Given the description of an element on the screen output the (x, y) to click on. 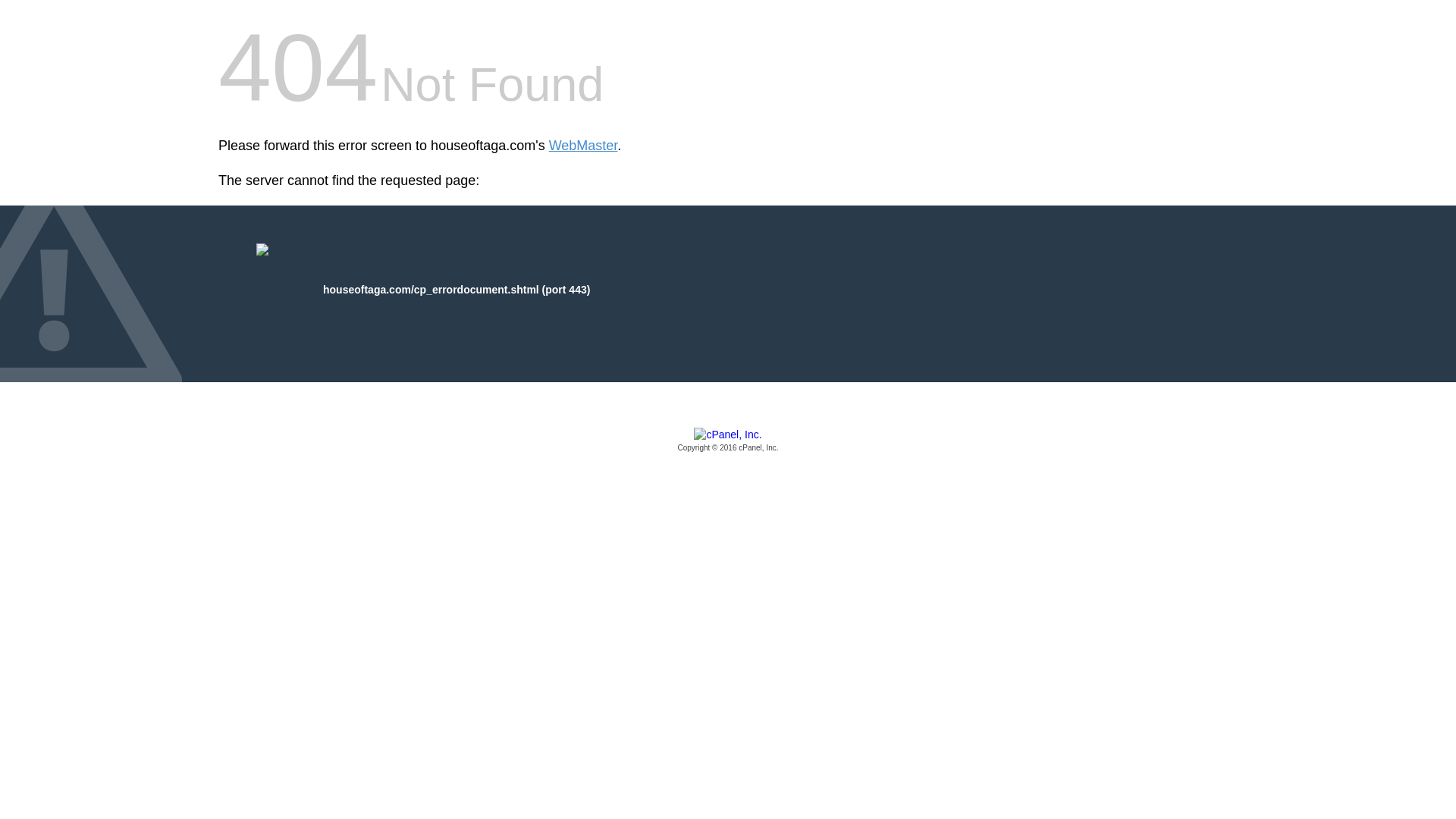
cPanel, Inc. (727, 440)
WebMaster (582, 145)
